Given the description of an element on the screen output the (x, y) to click on. 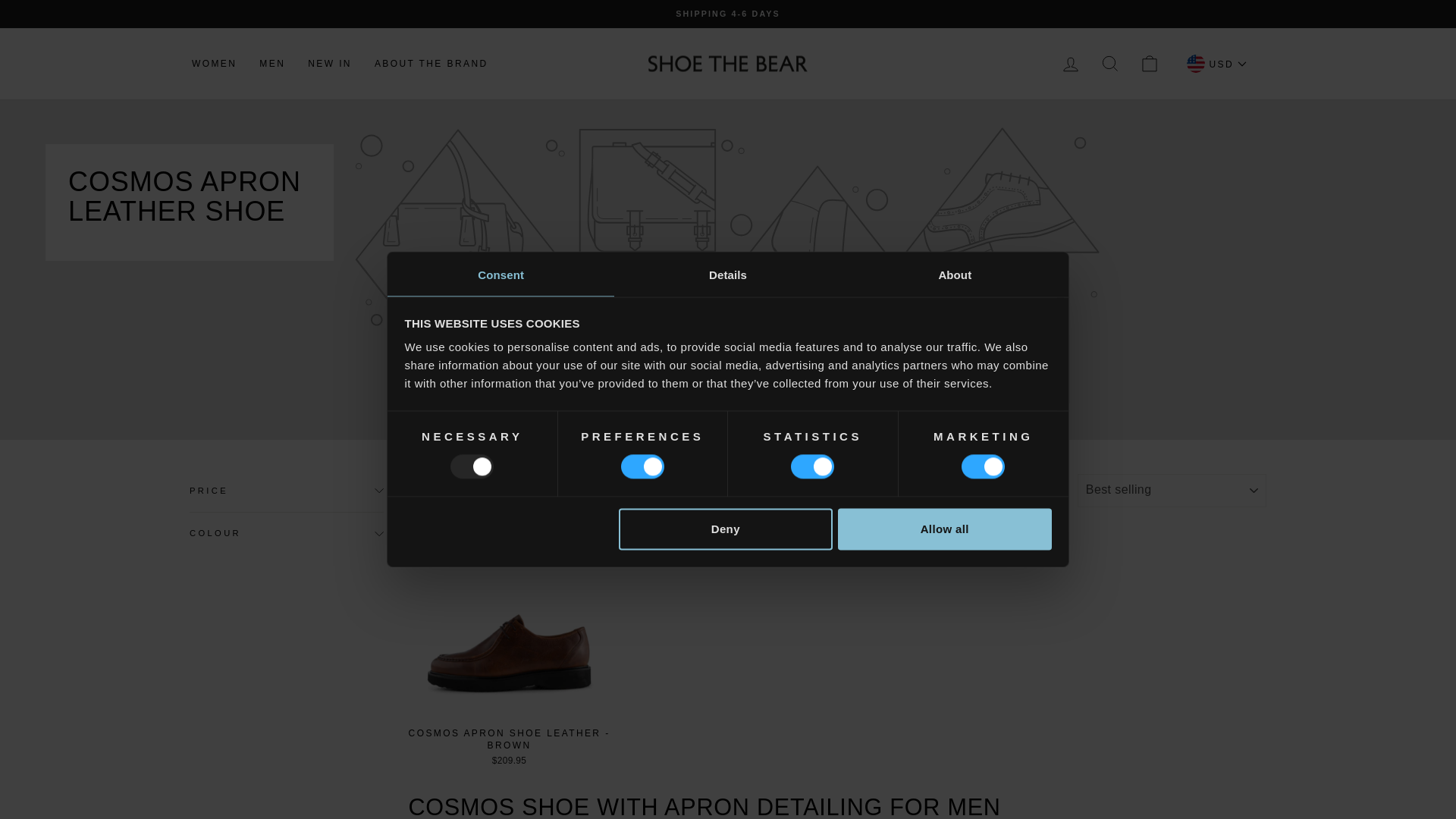
Details (727, 275)
About (954, 275)
Consent (500, 275)
